Given the description of an element on the screen output the (x, y) to click on. 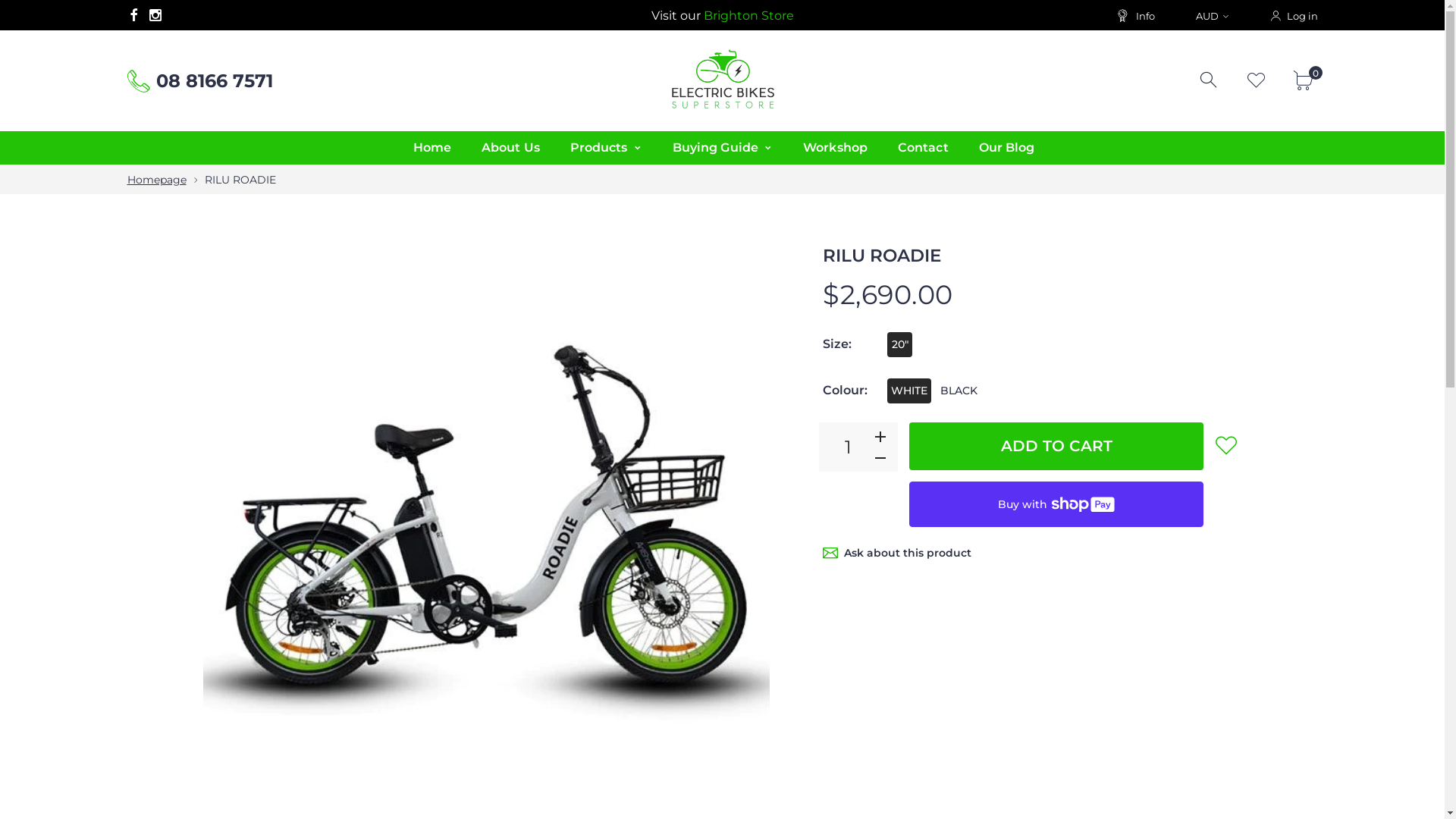
About Us Element type: text (510, 147)
Info Element type: text (1134, 14)
Ask about this product Element type: text (907, 552)
WHITE Element type: text (909, 390)
AUD Element type: text (1211, 15)
Electric Bikes Superstore Adelaide on Facebook Element type: hover (133, 14)
Workshop Element type: text (834, 147)
Contact Element type: text (922, 147)
08 8166 7571 Element type: text (214, 80)
Search Element type: hover (1209, 80)
Add To Wishlist Element type: hover (1226, 444)
Products Element type: text (606, 147)
Wishlist Element type: hover (1256, 80)
Our Blog Element type: text (1006, 147)
20" Element type: text (899, 344)
Homepage Element type: text (156, 179)
BLACK Element type: text (958, 390)
ADD TO CART Element type: text (1056, 446)
Buying Guide Element type: text (722, 147)
Brighton Store Element type: text (748, 15)
Electric Bikes Superstore Adelaide on Instagram Element type: hover (154, 14)
Home Element type: text (431, 147)
0 Element type: text (1305, 80)
Log in Element type: text (1292, 14)
